Given the description of an element on the screen output the (x, y) to click on. 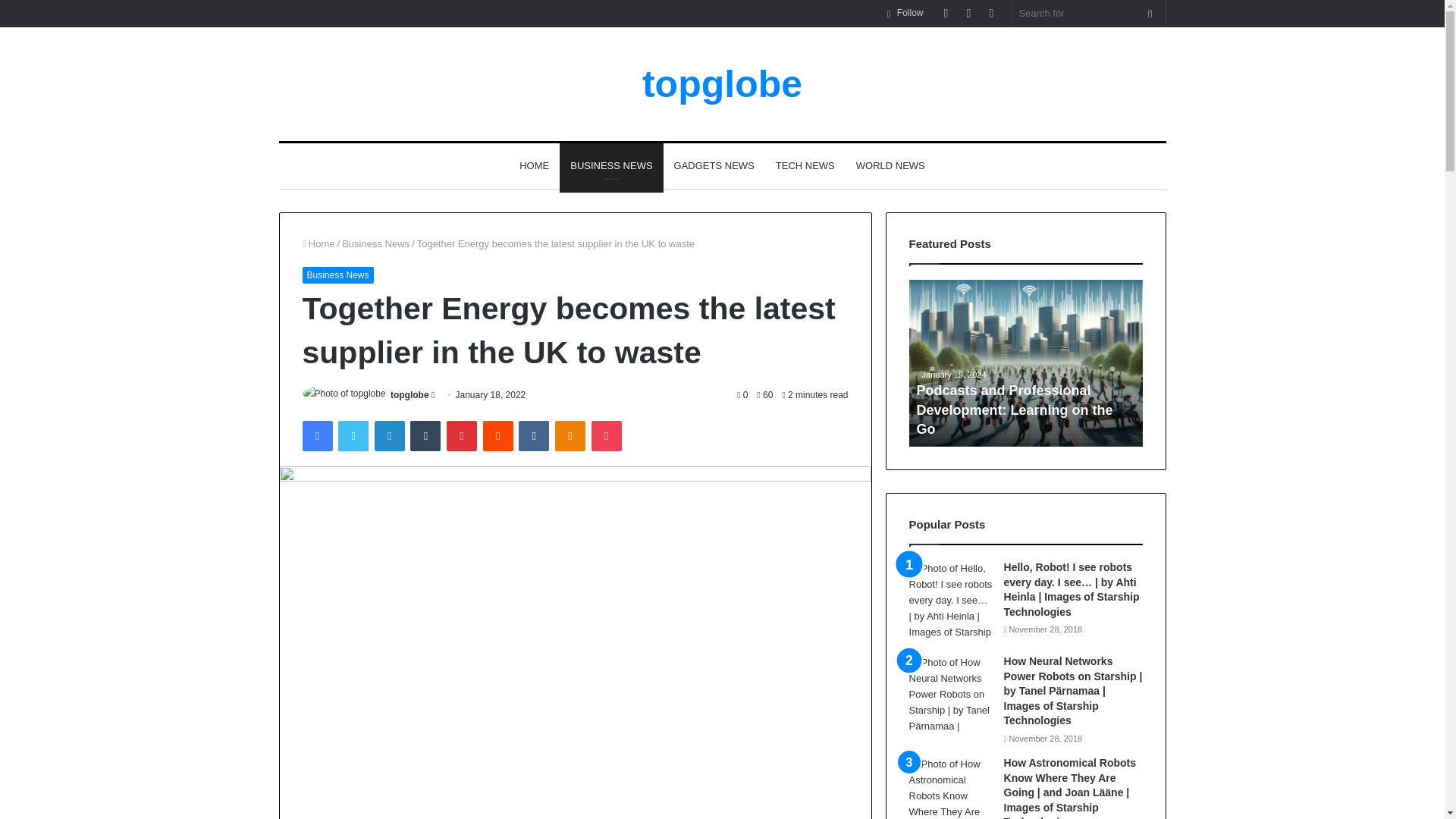
Pocket (606, 435)
HOME (533, 166)
Business News (375, 243)
VKontakte (533, 435)
Twitter (352, 435)
Tumblr (425, 435)
topglobe (409, 394)
Search for (1149, 13)
LinkedIn (389, 435)
WORLD NEWS (890, 166)
